Given the description of an element on the screen output the (x, y) to click on. 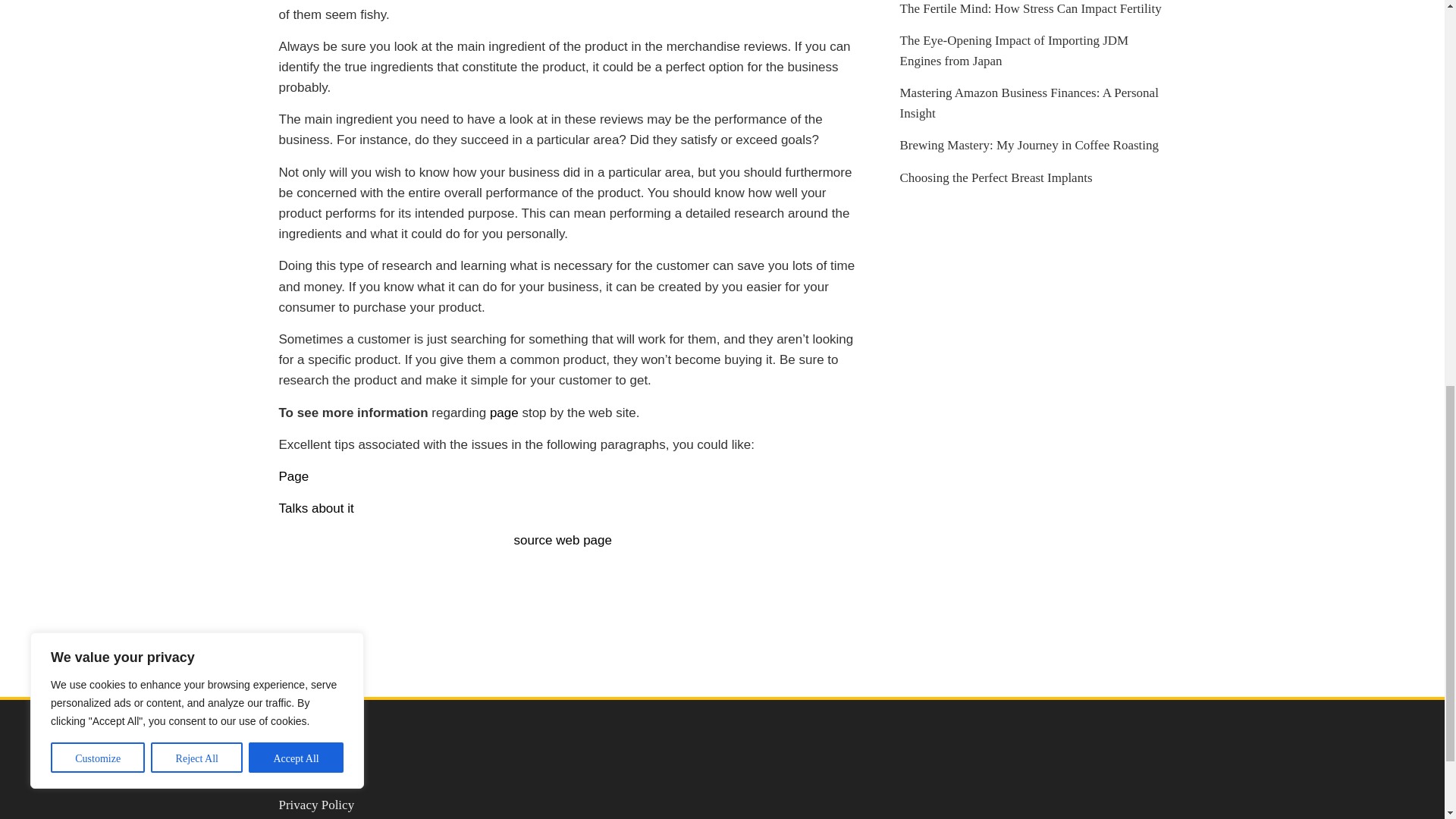
source web page (562, 540)
page (503, 412)
Talks about it (316, 508)
Page (293, 476)
